Given the description of an element on the screen output the (x, y) to click on. 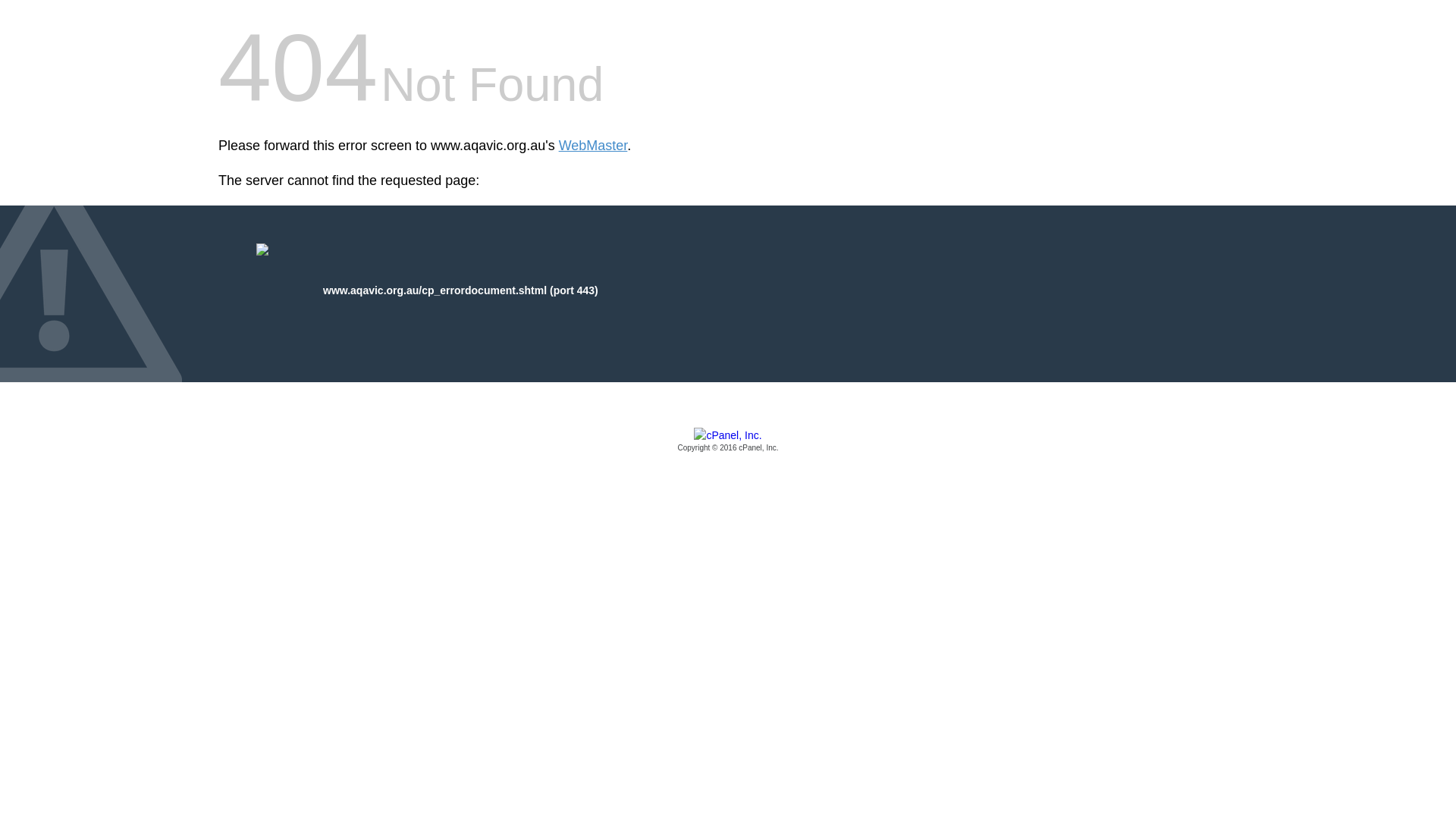
WebMaster Element type: text (592, 145)
